Given the description of an element on the screen output the (x, y) to click on. 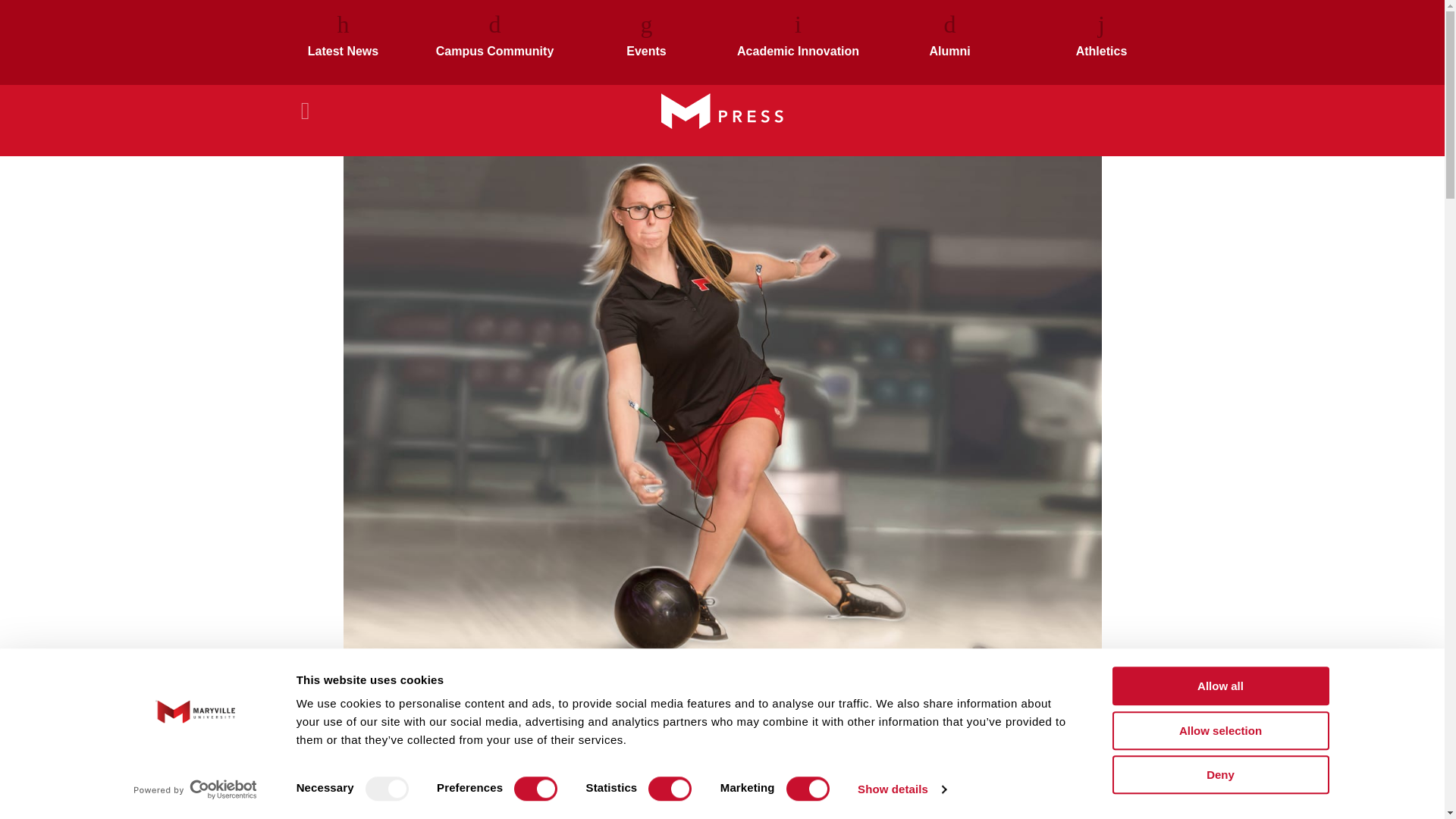
Show details (900, 789)
